Given the description of an element on the screen output the (x, y) to click on. 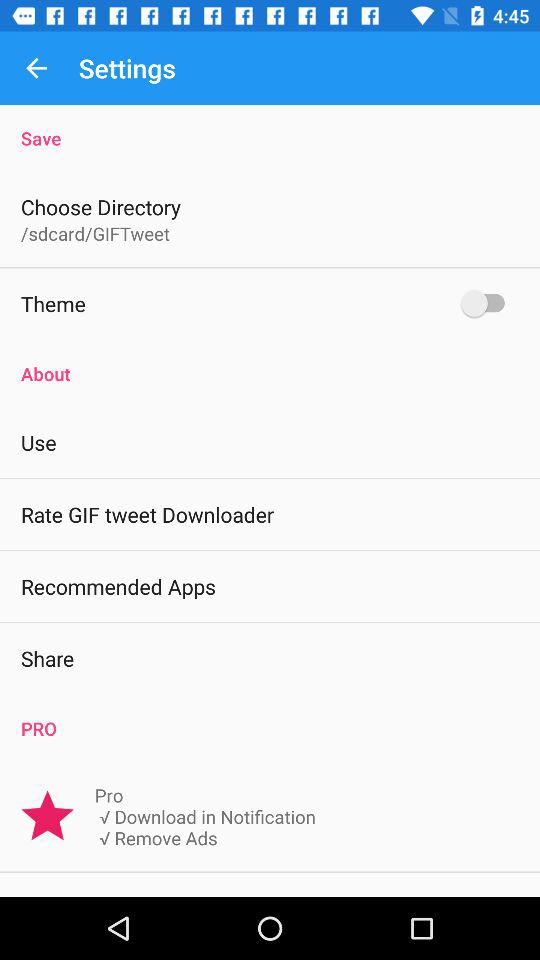
click icon next to settings (36, 68)
